Given the description of an element on the screen output the (x, y) to click on. 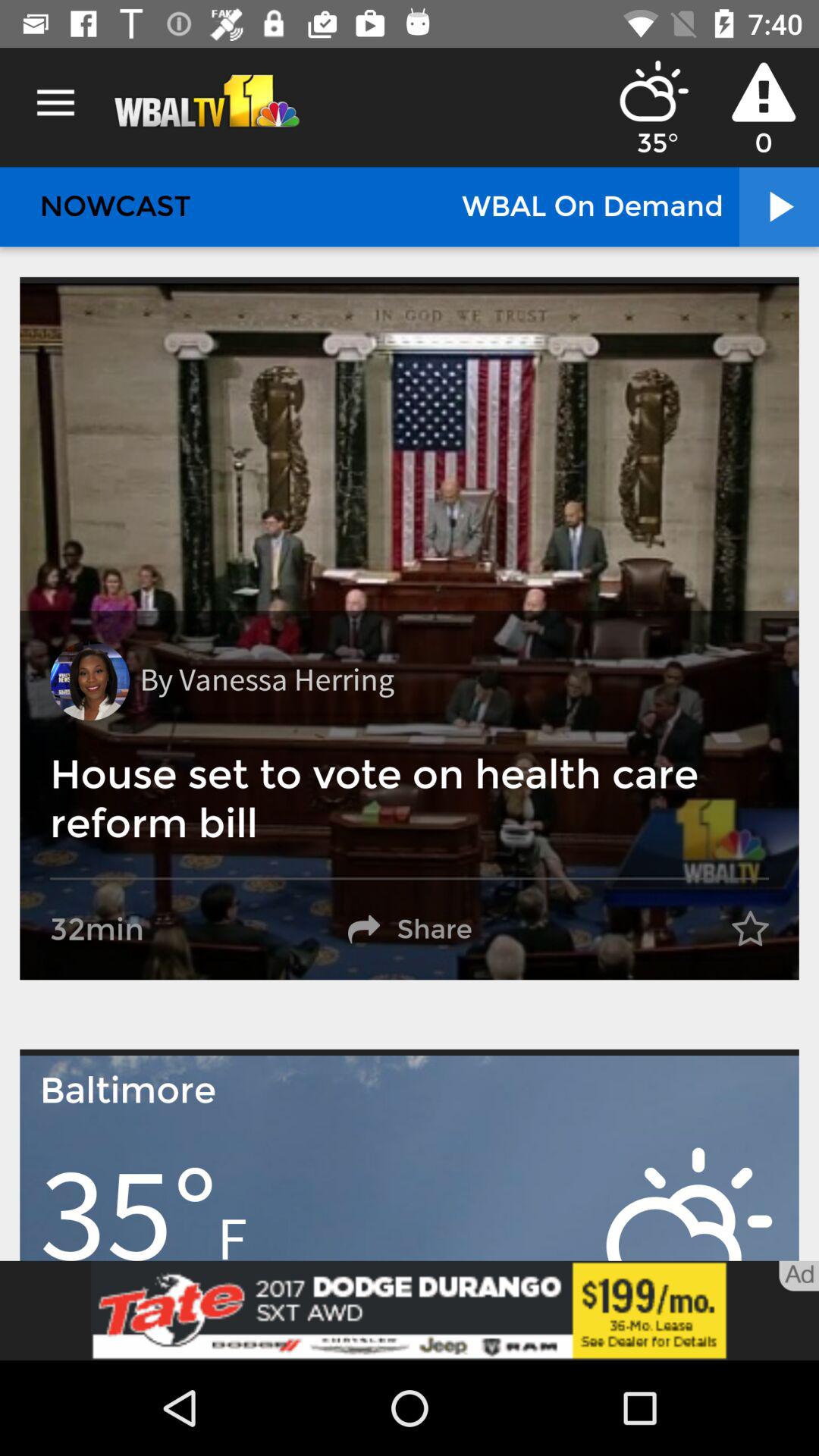
adverisment (409, 1310)
